Given the description of an element on the screen output the (x, y) to click on. 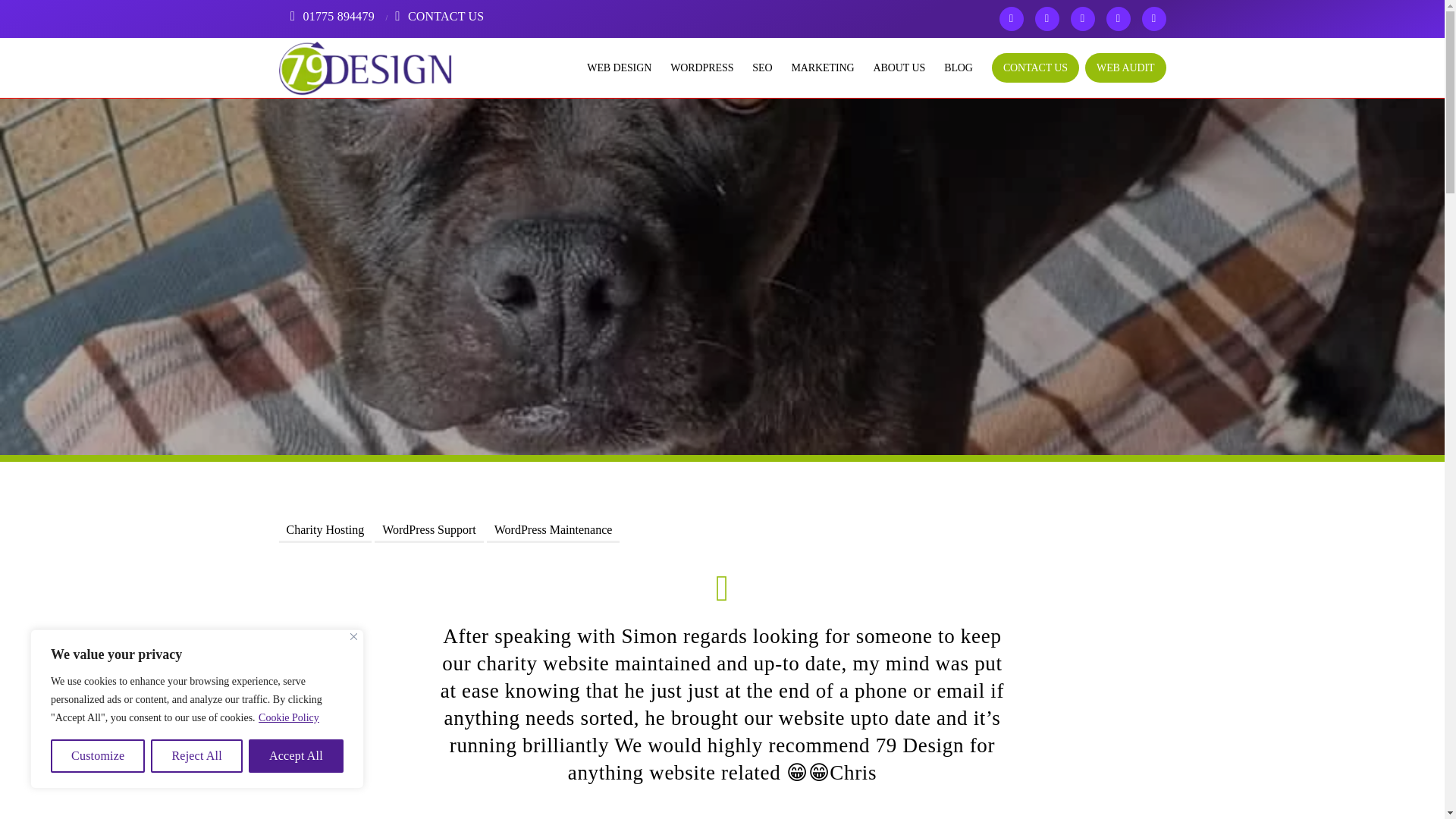
Instagram (1082, 18)
01775 894479 (330, 15)
Customize (97, 756)
LinkedIn (1117, 18)
Cookie Policy (288, 717)
X (1010, 18)
TikTok (1153, 18)
WEB DESIGN (608, 67)
Reject All (197, 756)
CONTACT US (437, 15)
